Given the description of an element on the screen output the (x, y) to click on. 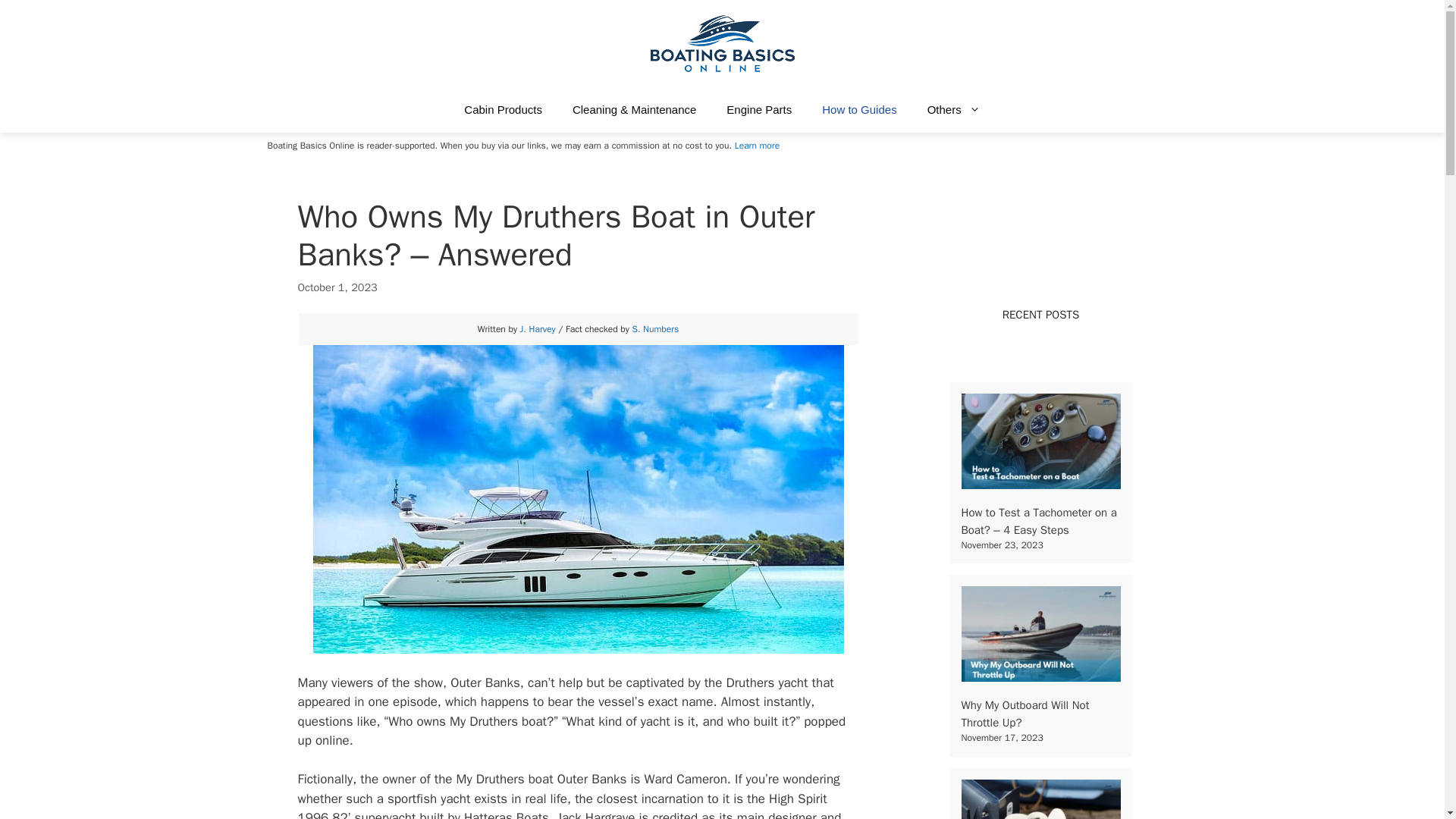
Others (953, 109)
S. Numbers (654, 328)
J. Harvey (537, 328)
Cabin Products (502, 109)
Engine Parts (758, 109)
How to Guides (858, 109)
Learn more (756, 145)
